Given the description of an element on the screen output the (x, y) to click on. 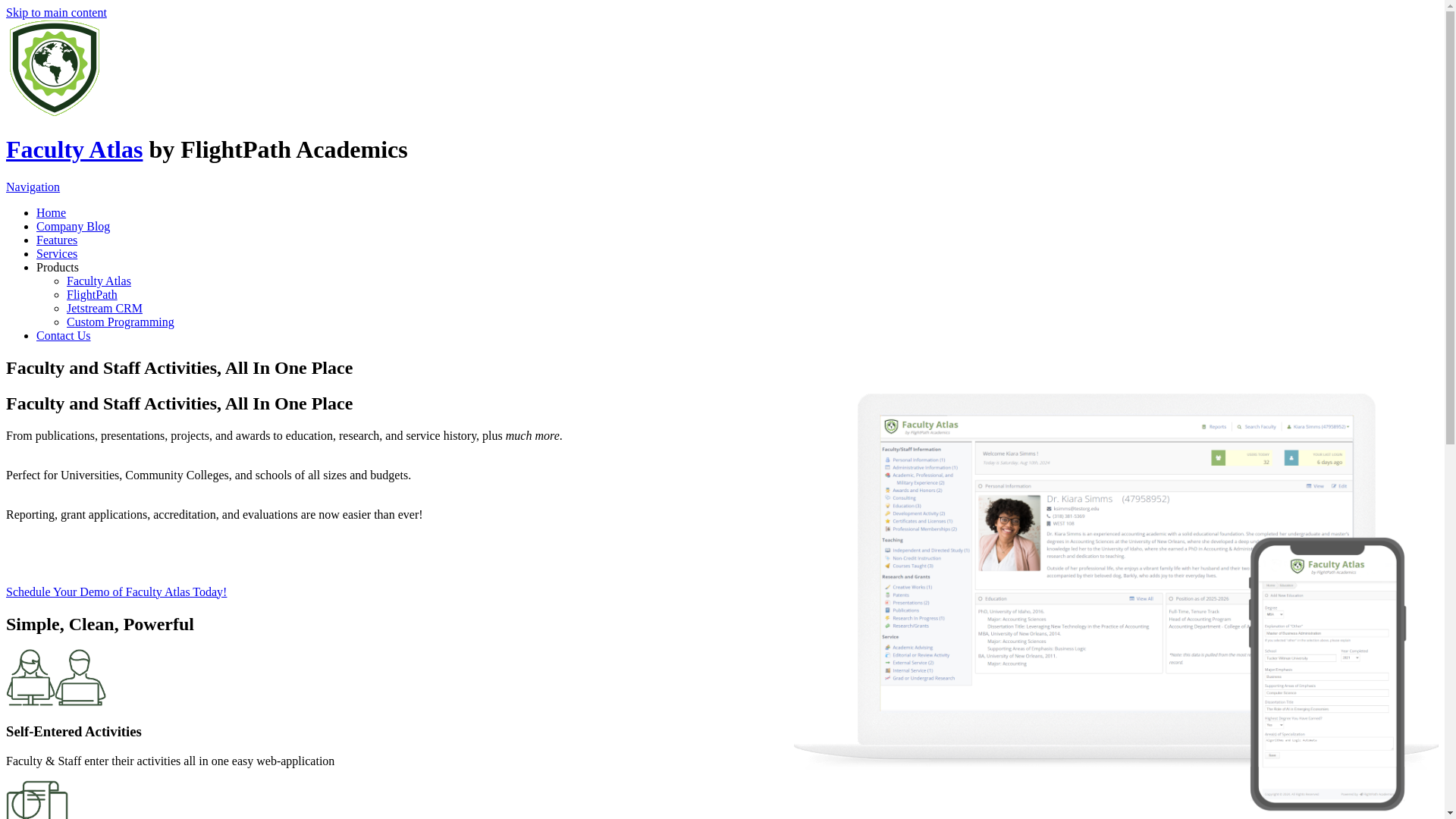
Schedule Your Demo of Faculty Atlas Today! (116, 591)
Products (57, 267)
Home (73, 148)
Home (50, 212)
Faculty Atlas (98, 280)
Features (56, 239)
FlightPath (91, 294)
Jetstream CRM (104, 308)
Faculty Atlas (73, 148)
Home (54, 112)
